Given the description of an element on the screen output the (x, y) to click on. 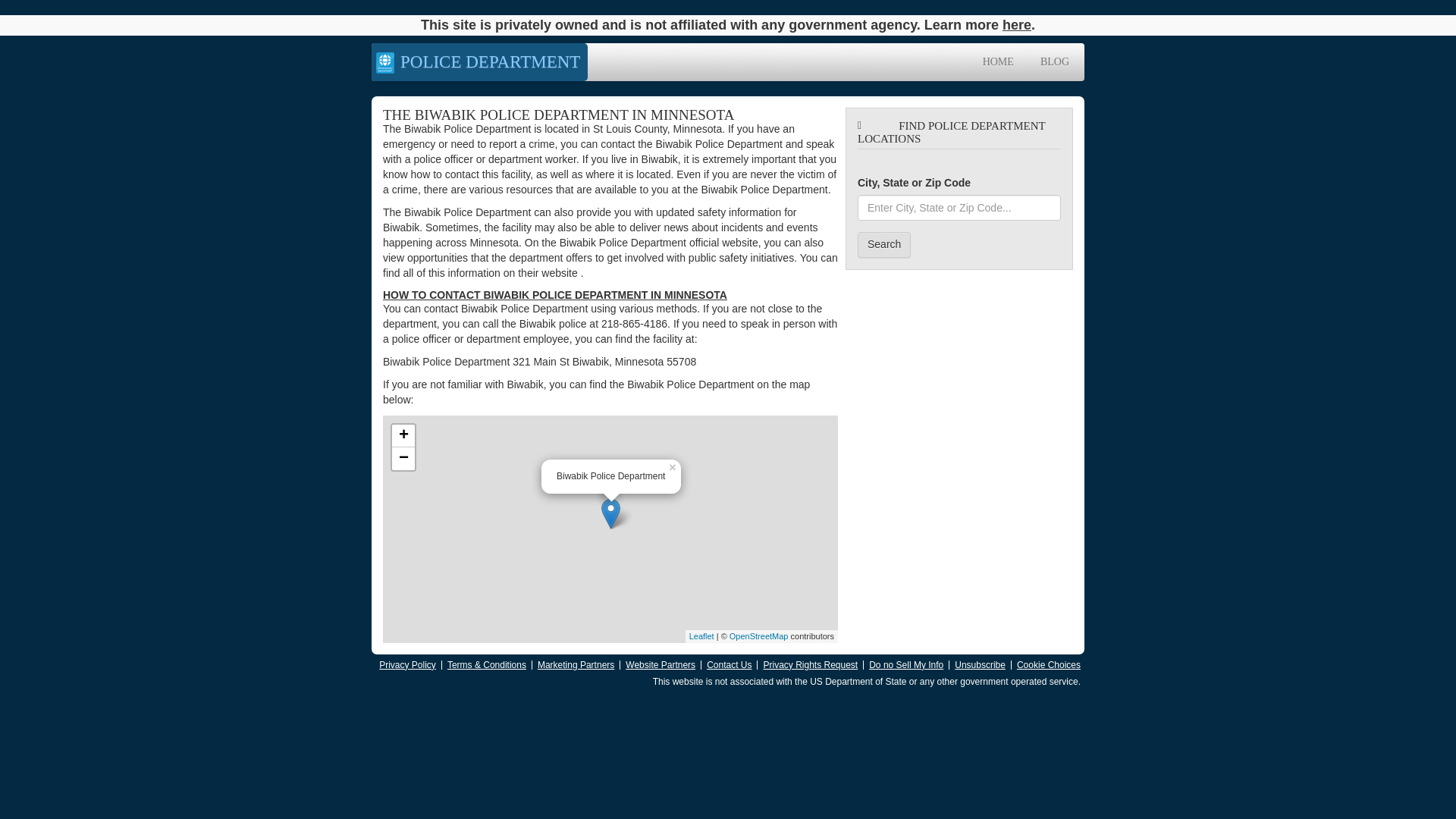
Do no Sell My Info (906, 665)
Leaflet (701, 635)
here (1016, 24)
Zoom in (402, 436)
HOME (998, 62)
Search (884, 244)
OpenStreetMap (759, 635)
Cookie Choices (1048, 665)
Website Partners (660, 665)
Police Department (479, 62)
Zoom out (402, 458)
Contact Us (728, 665)
BLOG (1054, 62)
POLICE DEPARTMENT (479, 62)
Unsubscribe (980, 665)
